Given the description of an element on the screen output the (x, y) to click on. 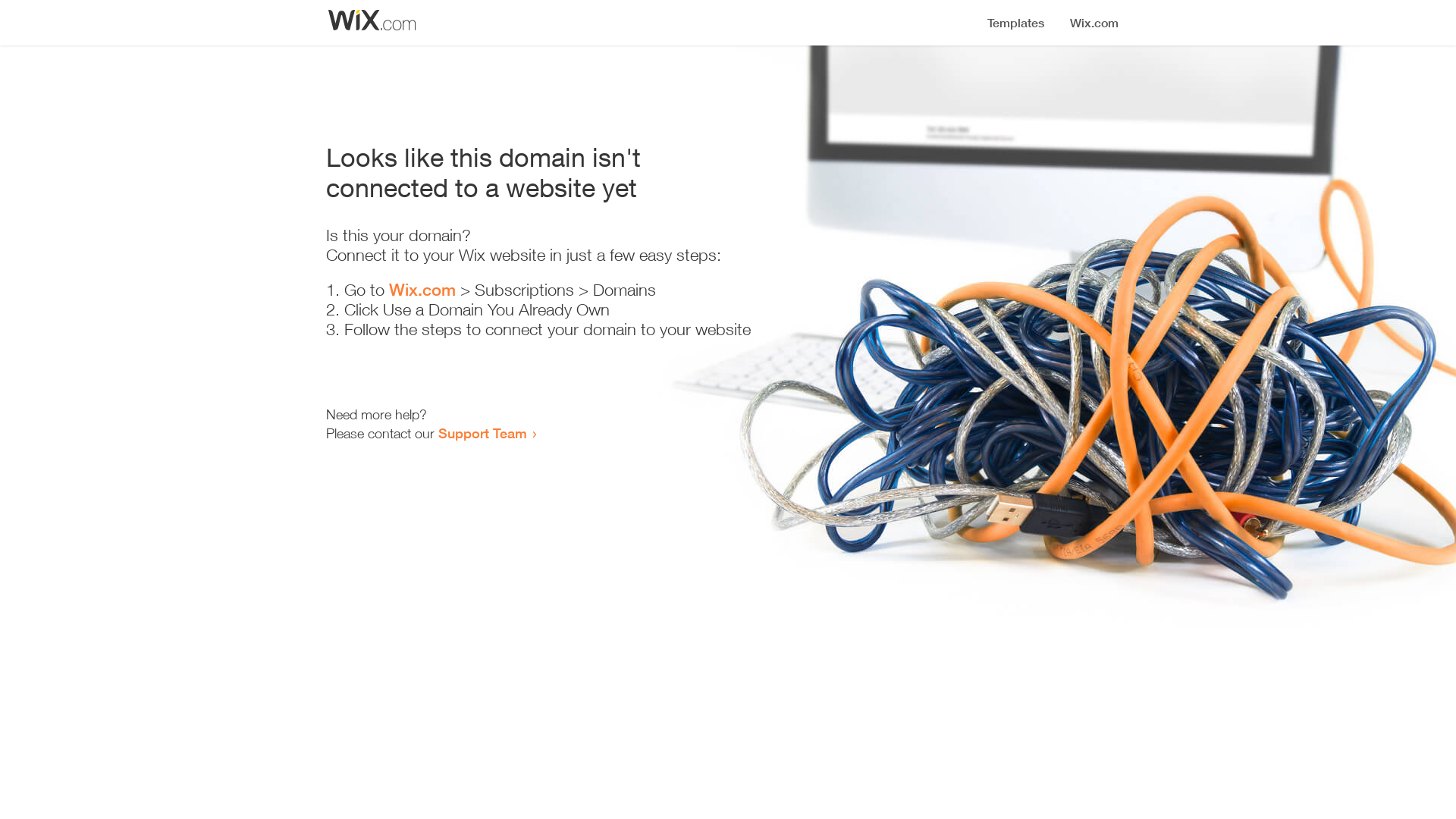
Support Team Element type: text (482, 432)
Wix.com Element type: text (422, 289)
